Given the description of an element on the screen output the (x, y) to click on. 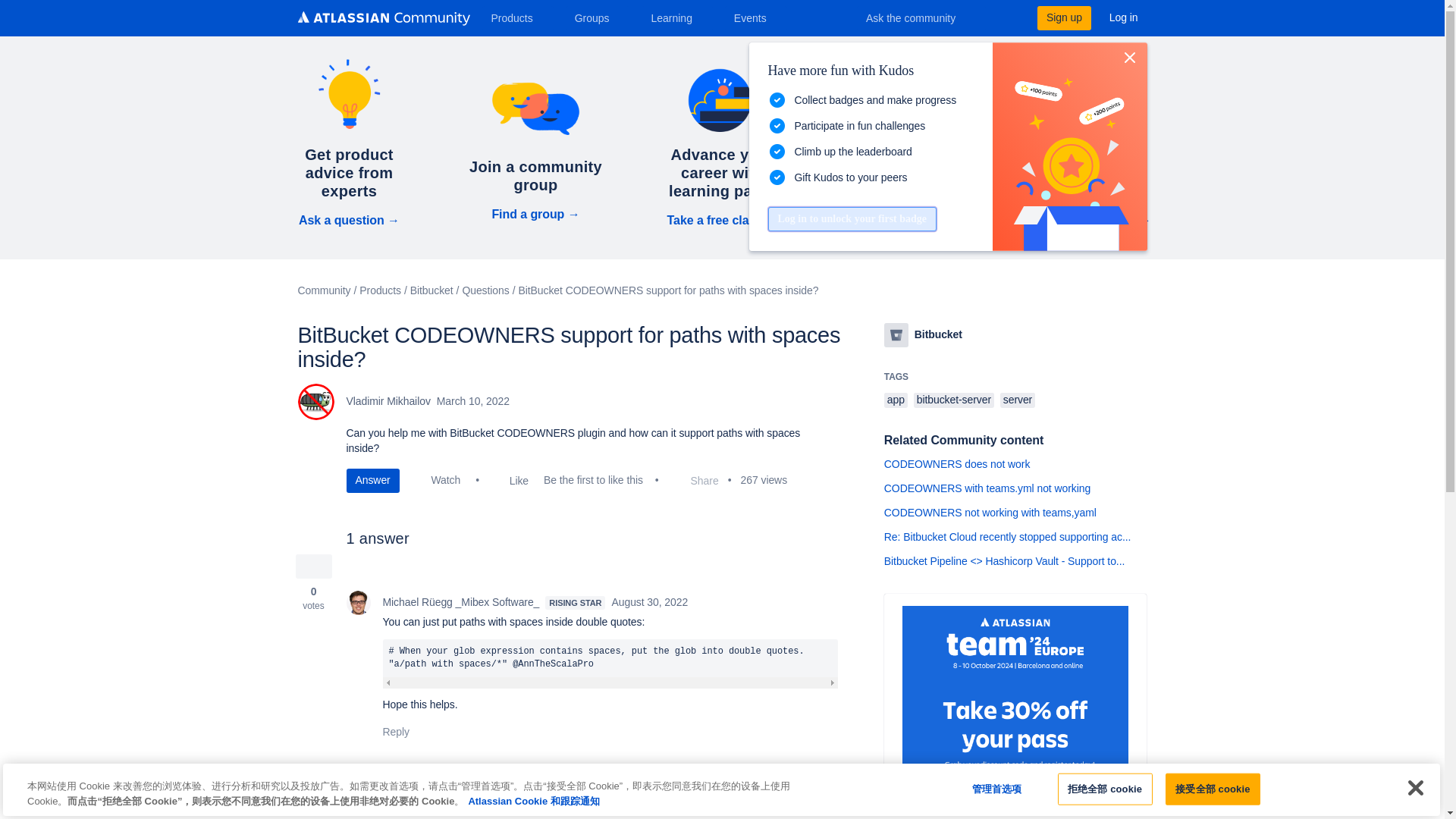
Log in to unlock your first badge (851, 218)
Atlassian Community logo (382, 19)
Ask the community  (921, 17)
Log in (1123, 17)
Events (756, 17)
Products (517, 17)
Learning (676, 17)
Atlassian Community logo (382, 18)
Groups (598, 17)
Bitbucket (895, 334)
